Given the description of an element on the screen output the (x, y) to click on. 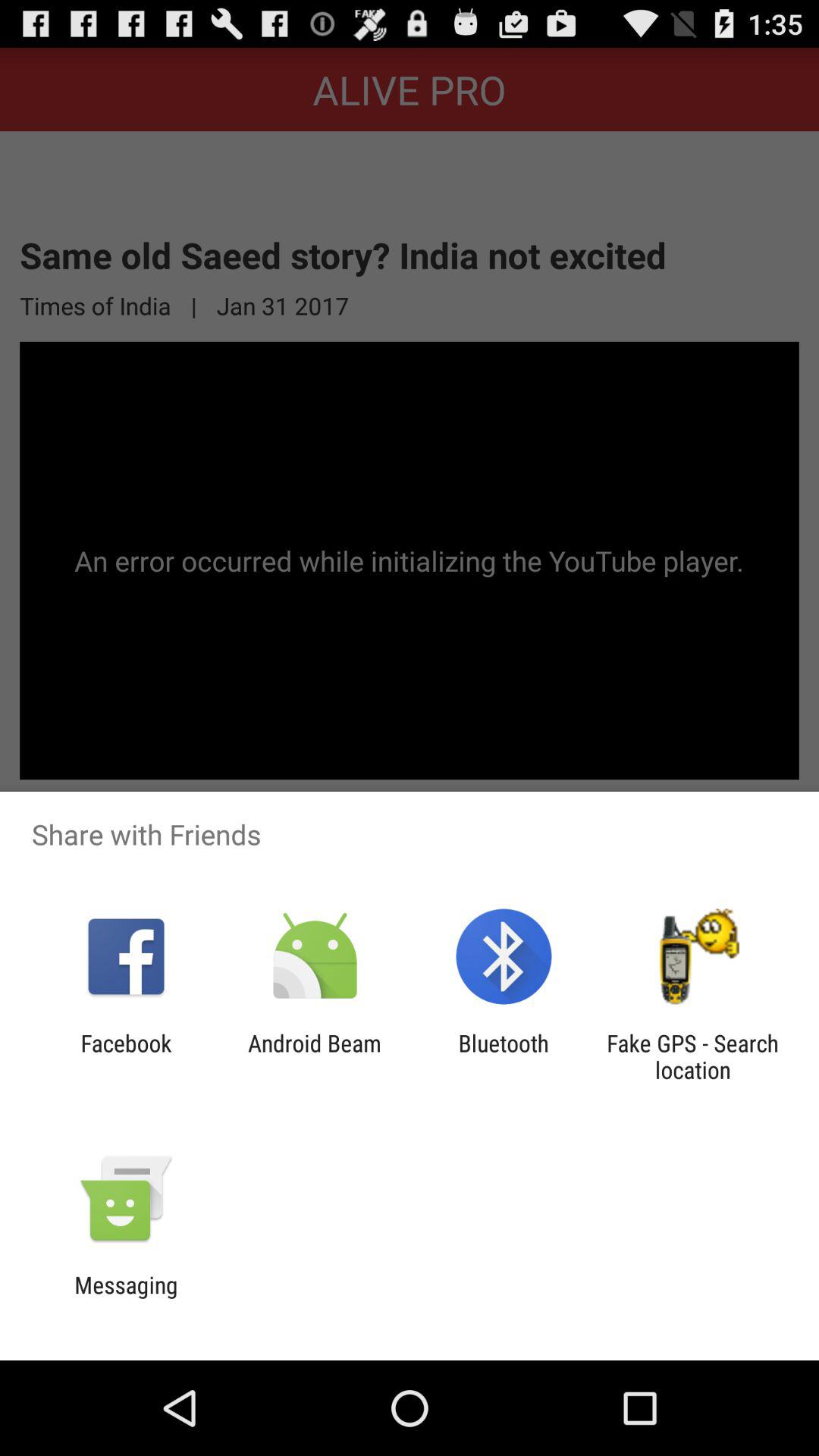
select item next to bluetooth icon (692, 1056)
